Given the description of an element on the screen output the (x, y) to click on. 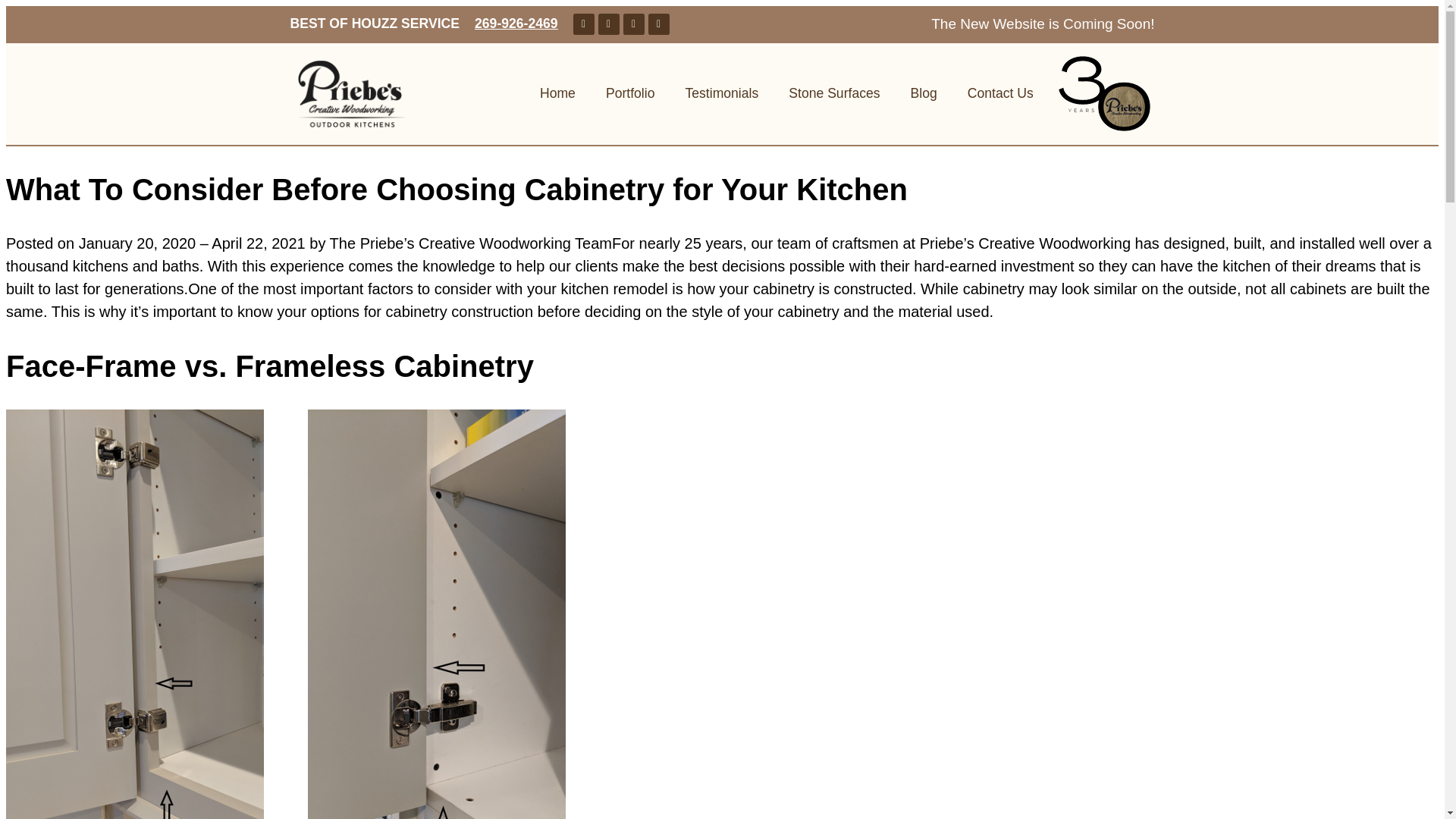
Stone Surfaces (834, 93)
Home (557, 93)
269-926-2469 (515, 23)
Contact Us (1000, 93)
Blog (923, 93)
Portfolio (630, 93)
Testimonials (721, 93)
